Given the description of an element on the screen output the (x, y) to click on. 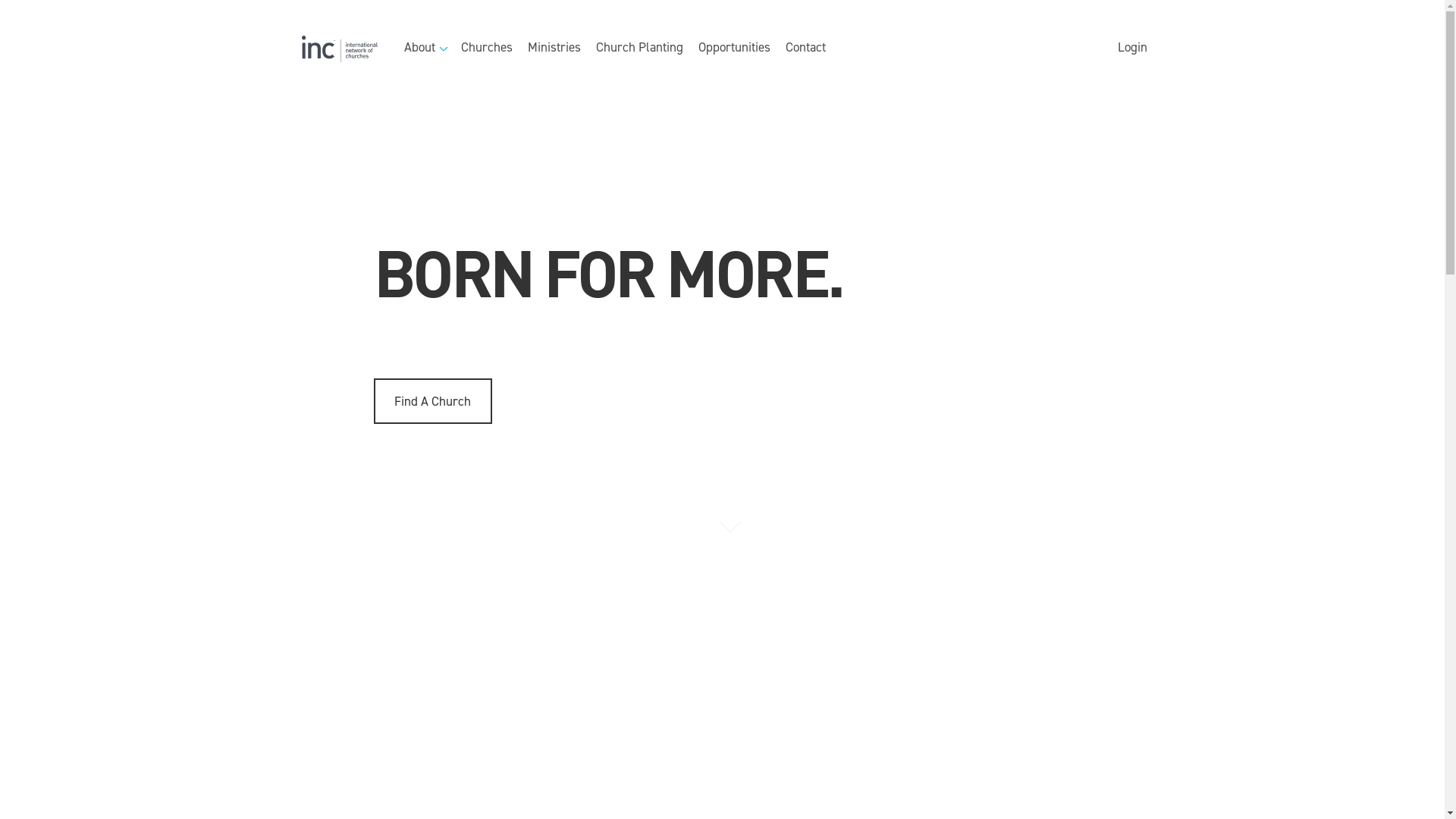
Ministries Element type: text (553, 48)
Churches Element type: text (486, 48)
Find A Church Element type: text (432, 400)
Opportunities Element type: text (733, 48)
Contact Element type: text (805, 48)
 Login Element type: text (1130, 48)
About Element type: text (424, 48)
Church Planting Element type: text (639, 48)
